Given the description of an element on the screen output the (x, y) to click on. 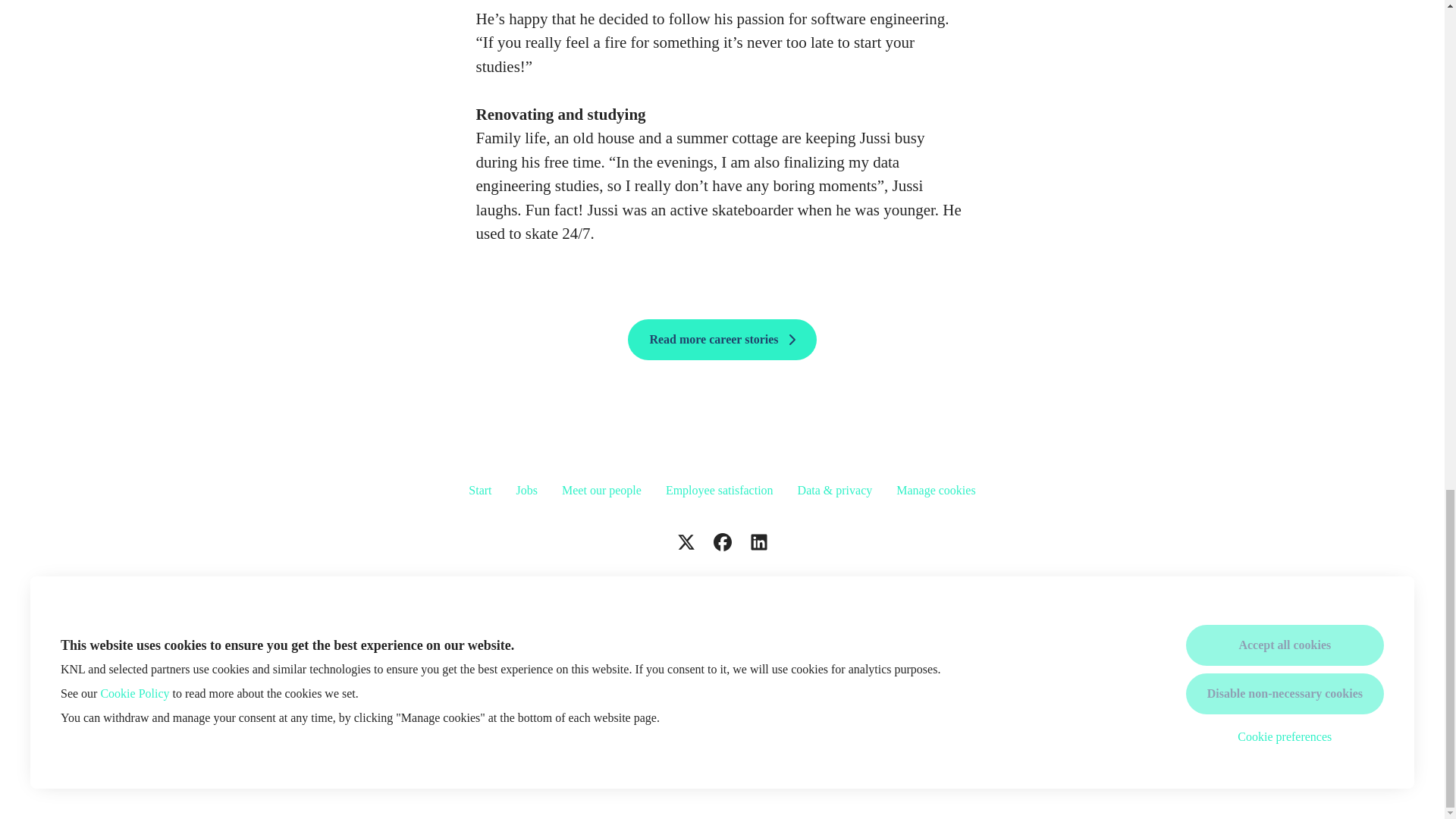
Employee login (304, 682)
x-twitter (684, 543)
facebook (721, 543)
linkedin (757, 543)
Meet our people (601, 490)
Candidate Connect login (1116, 682)
Career site by Teamtailor (722, 760)
Read more career stories (721, 339)
knl.fi (722, 590)
Start (480, 490)
